Given the description of an element on the screen output the (x, y) to click on. 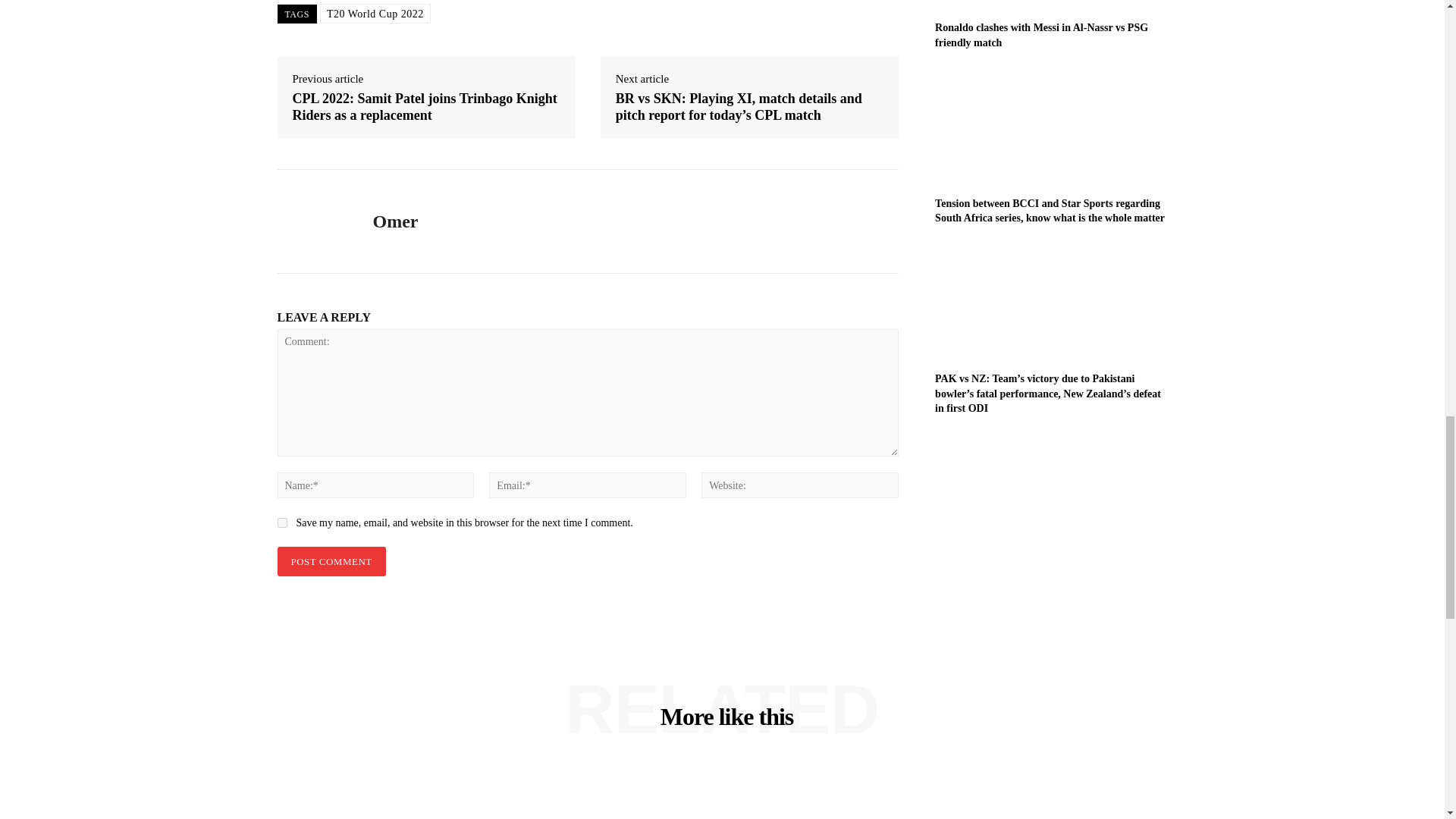
Ronaldo clashes with Messi in Al-Nassr vs PSG friendly match (1041, 35)
yes (282, 522)
omer (314, 221)
Ronaldo clashes with Messi in Al-Nassr vs PSG friendly match (1050, 5)
Post Comment (331, 561)
